Given the description of an element on the screen output the (x, y) to click on. 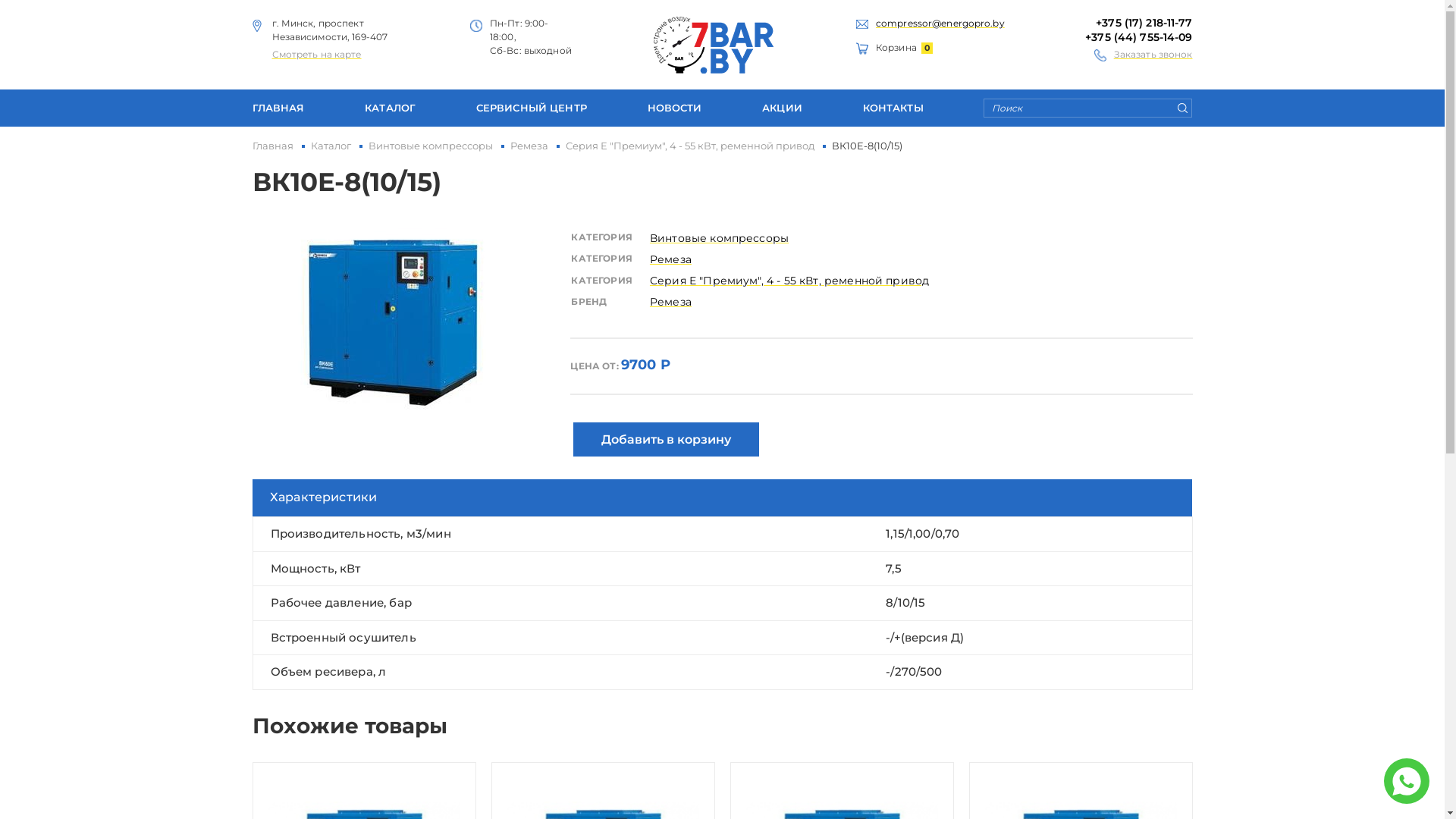
+375 (17) 218-11-77 Element type: text (1143, 22)
compressor@energopro.by Element type: text (939, 22)
+375 (44) 755-14-09 Element type: text (1138, 36)
